Given the description of an element on the screen output the (x, y) to click on. 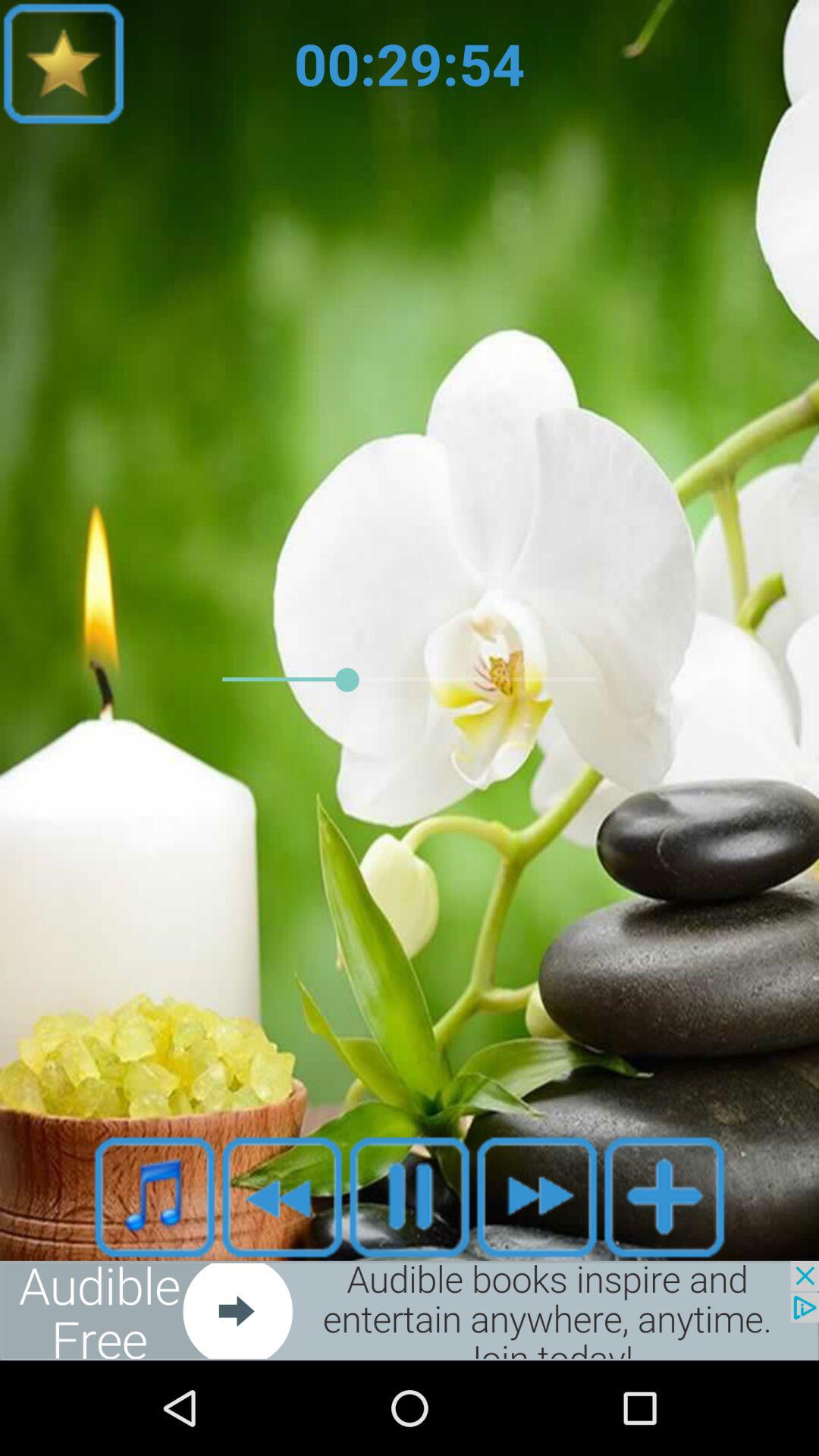
front (536, 1196)
